Given the description of an element on the screen output the (x, y) to click on. 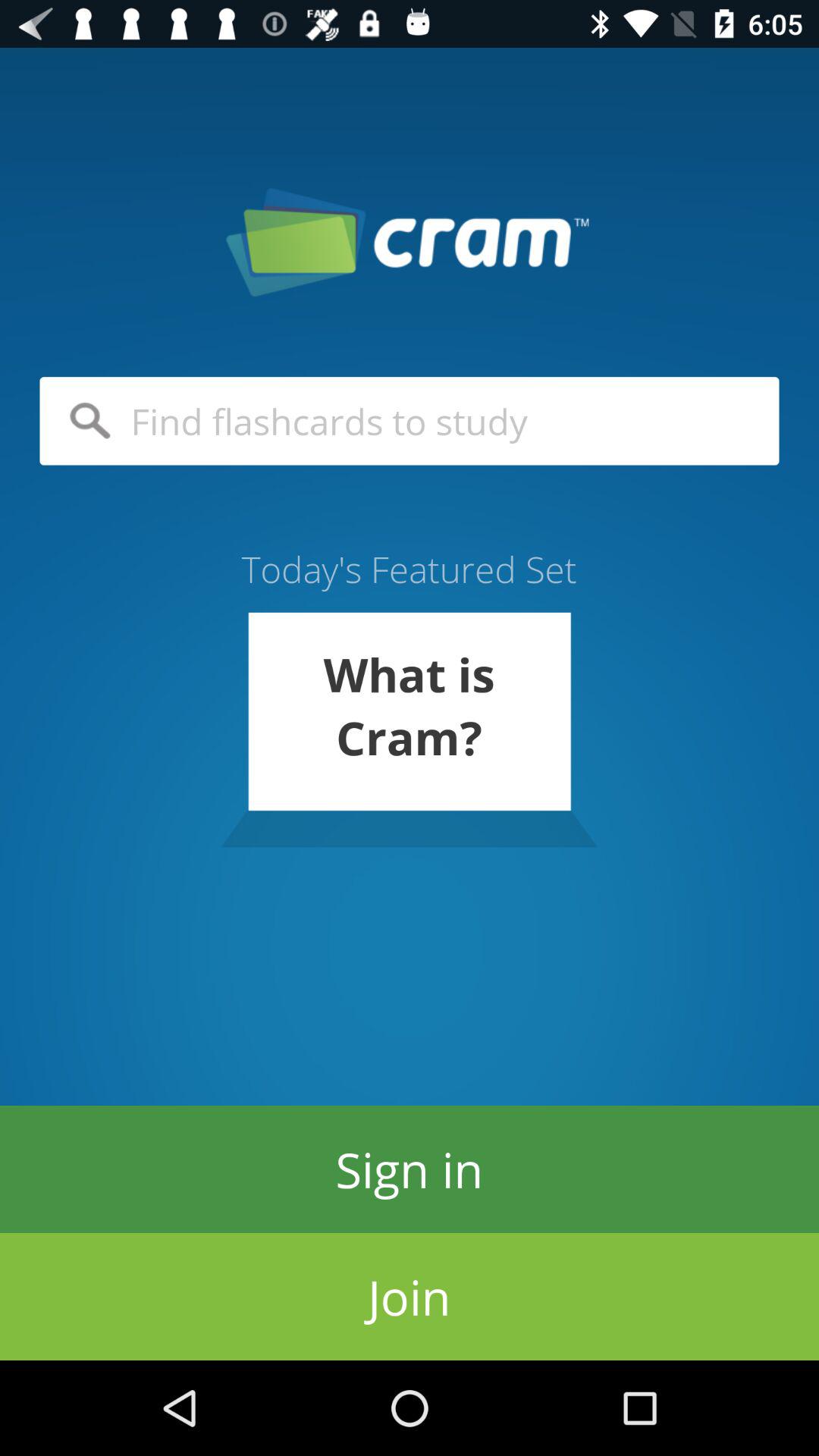
click the item below the what is
cram? icon (409, 1169)
